Given the description of an element on the screen output the (x, y) to click on. 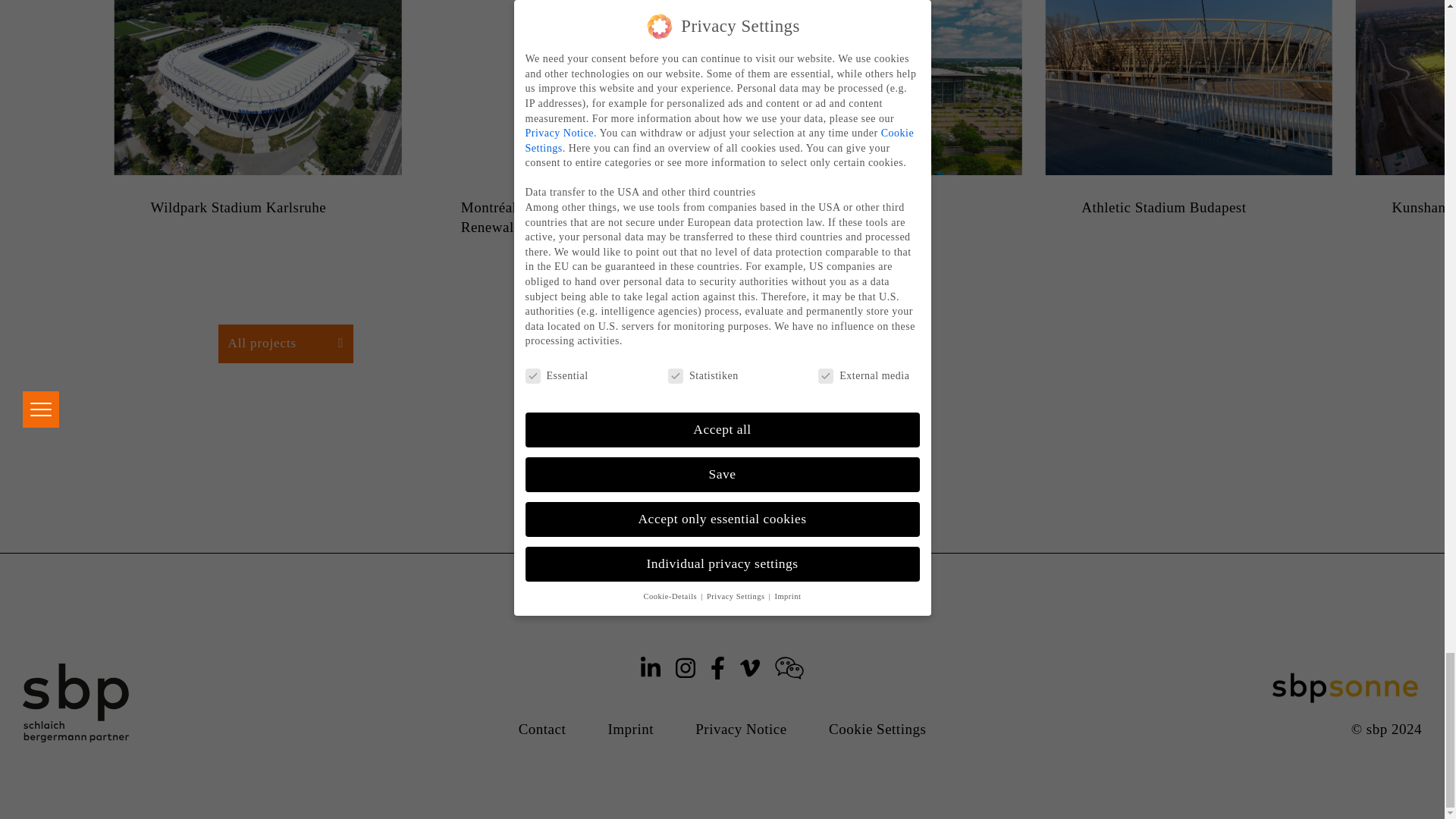
Athletic Stadium Budapest (1188, 208)
Wildpark Stadium Karlsruhe (257, 208)
Volkswagen Arena (878, 208)
